Given the description of an element on the screen output the (x, y) to click on. 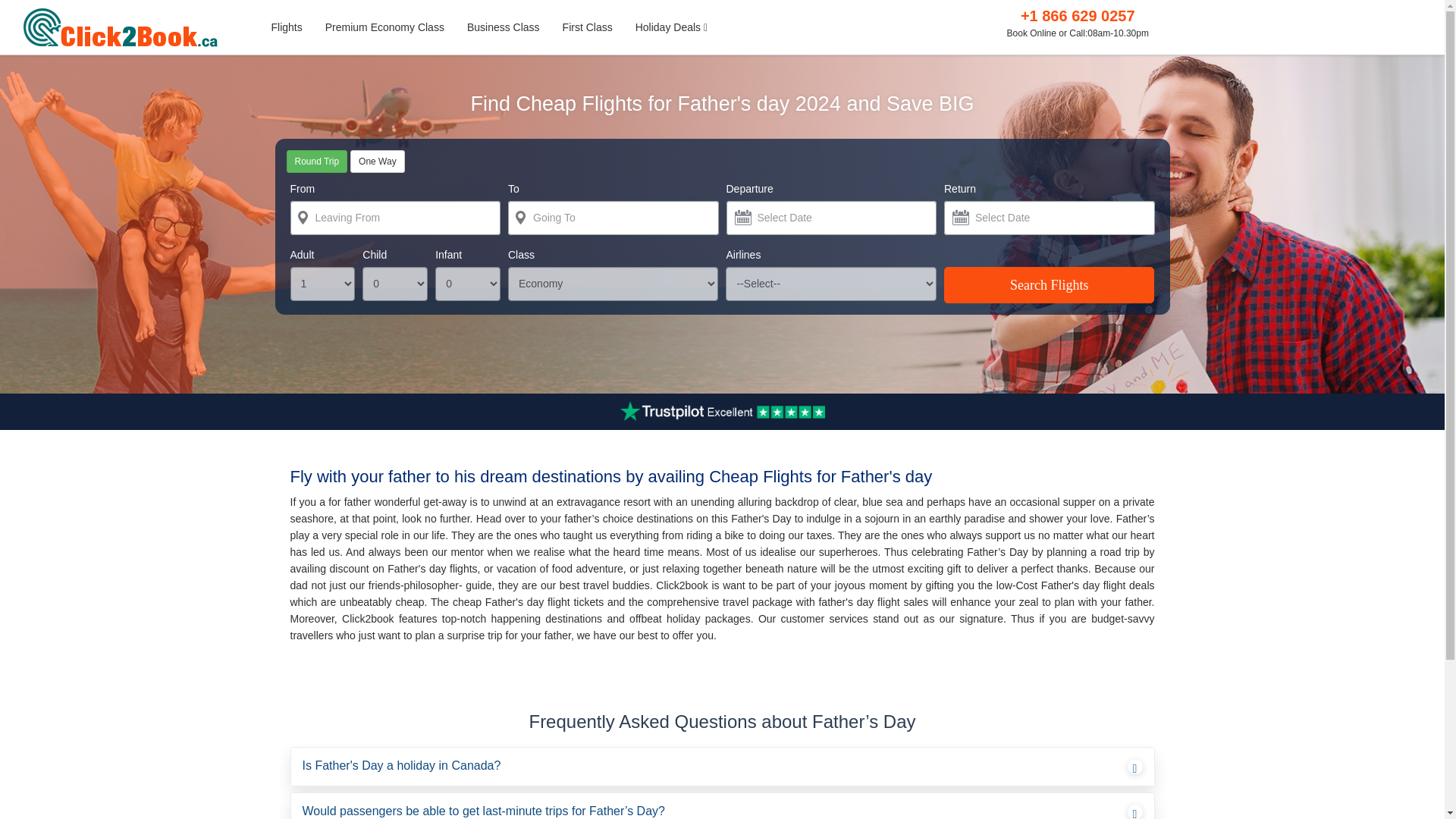
One Way (377, 160)
click2book (128, 27)
Round Trip (316, 160)
First Class Flights (587, 27)
Premium Economy Class (384, 27)
Business Class Flights (503, 27)
Business Class (503, 27)
Search Flights (1048, 284)
Premium Economy Class (384, 27)
Search Flights (1048, 284)
Holiday Deals (671, 27)
Is Father's Day a holiday in Canada? (721, 766)
Flights (286, 27)
Holiday Deals (671, 27)
Search Flights (1048, 284)
